Given the description of an element on the screen output the (x, y) to click on. 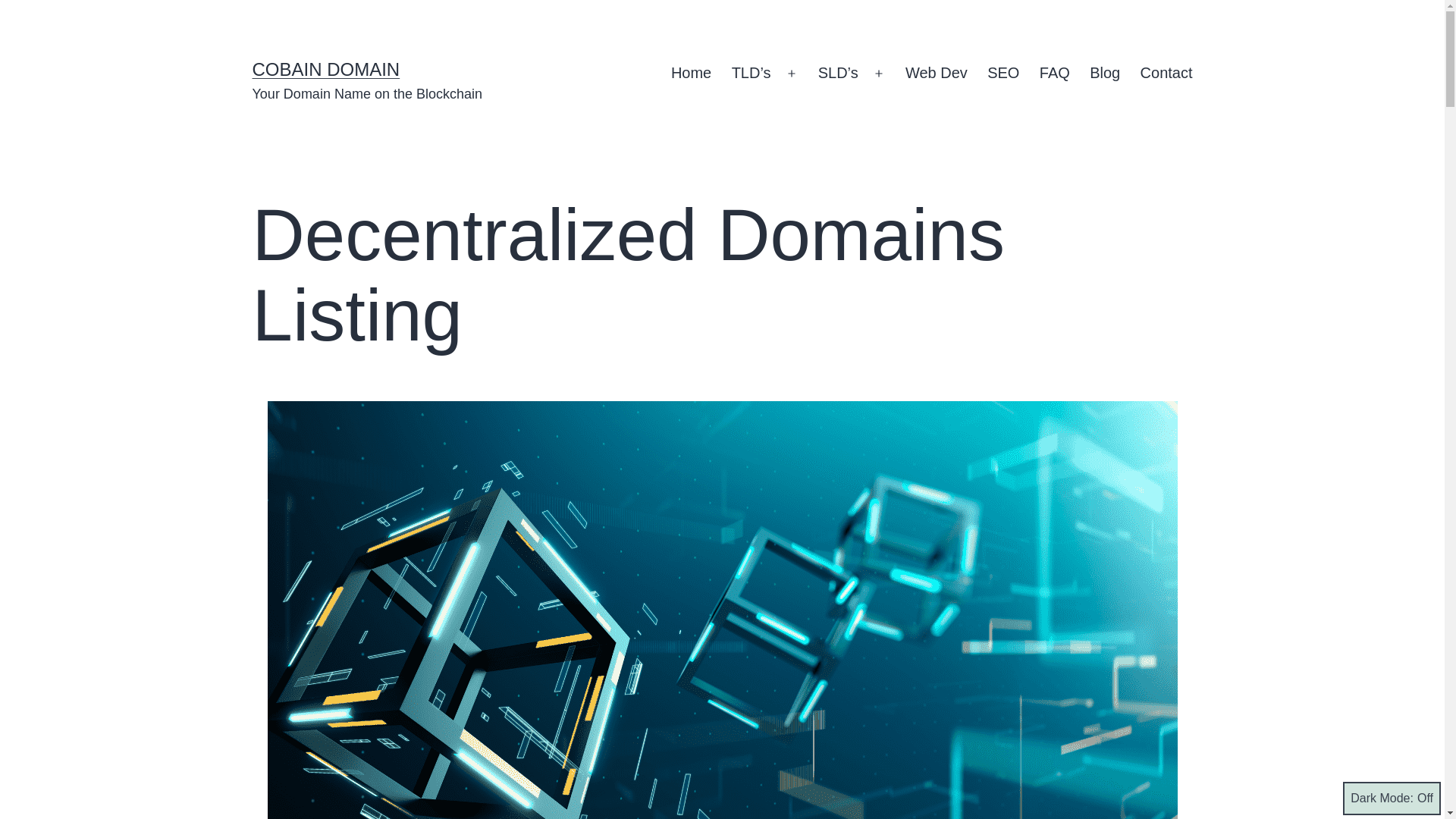
Blog (1104, 73)
Contact (1165, 73)
Home (691, 73)
FAQ (1054, 73)
SEO (1002, 73)
COBAIN DOMAIN (324, 68)
Web Dev (935, 73)
